Given the description of an element on the screen output the (x, y) to click on. 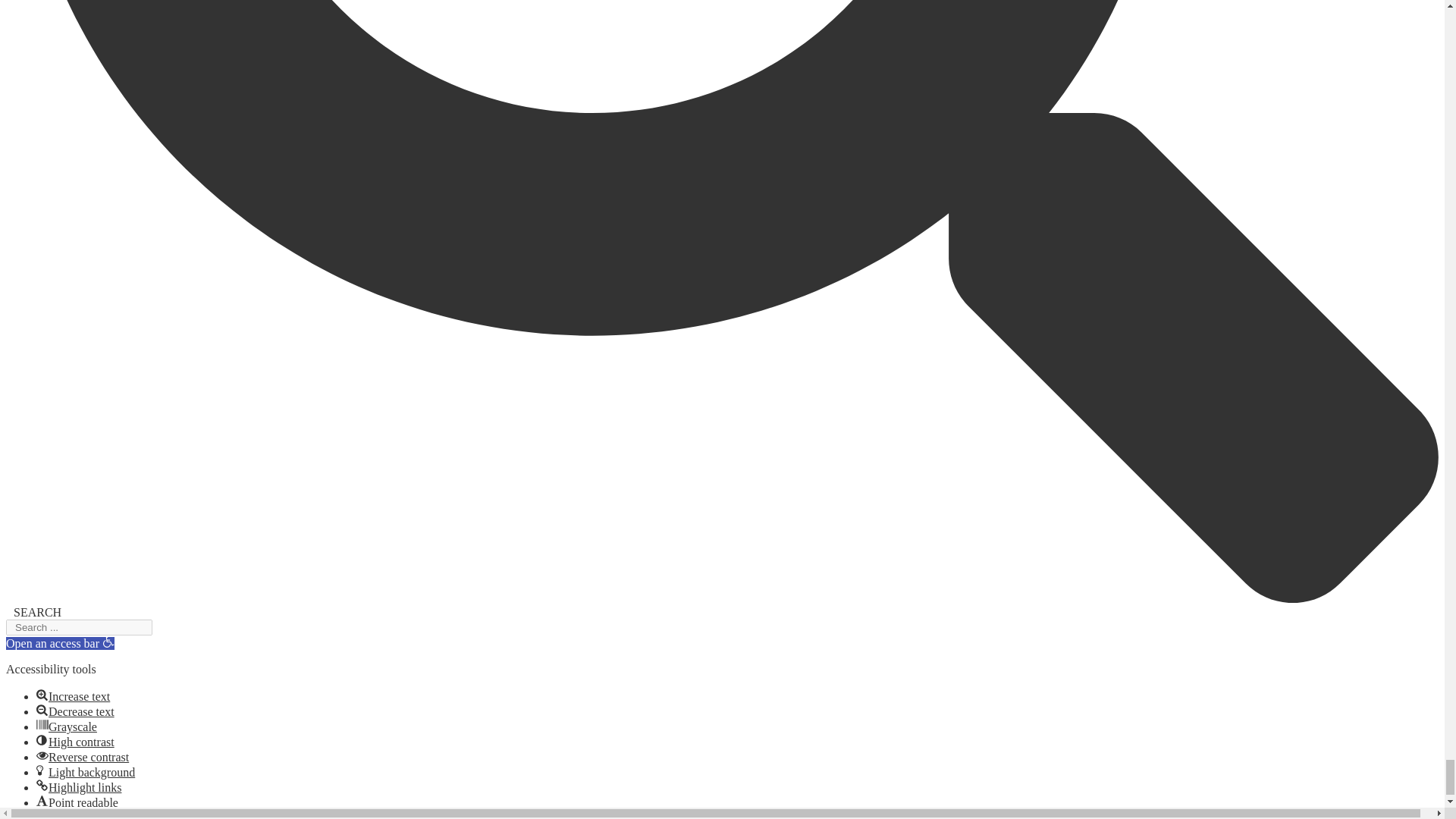
Highlight links (42, 785)
Accessibility tools (108, 641)
Decrease text (42, 709)
Light background (42, 770)
Increase text (42, 694)
Reverse contrast (42, 755)
Point readable (42, 800)
High contrast (42, 739)
Grayscale (42, 725)
